Given the description of an element on the screen output the (x, y) to click on. 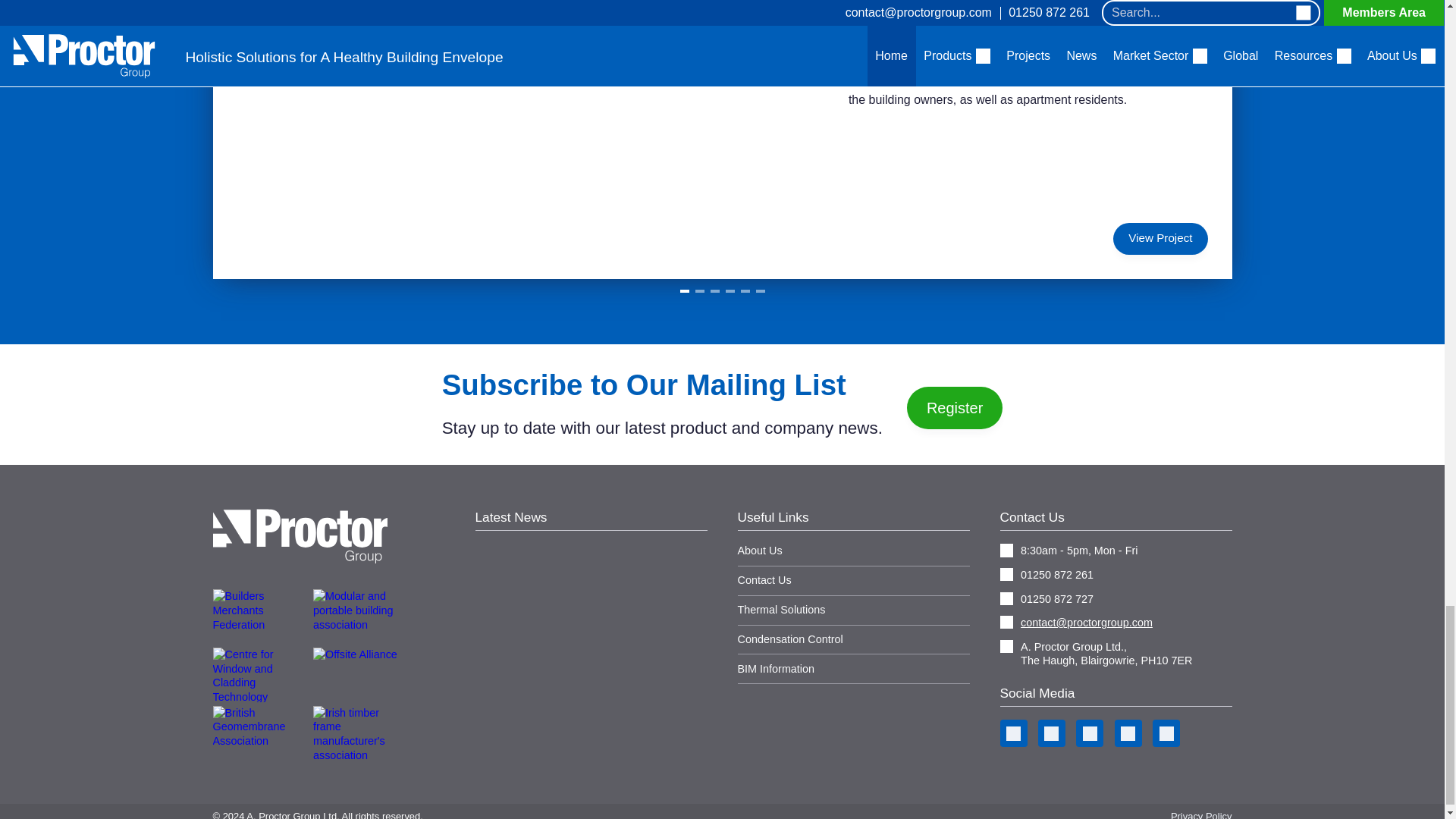
Builders Merchants Federation (260, 615)
Modular and portable building association (361, 615)
British Geomembrane Association (260, 732)
Offsite Alliance (361, 674)
Centre for Window and Cladding Technology (260, 674)
Irish timber frame manufacturer's association (361, 732)
